Given the description of an element on the screen output the (x, y) to click on. 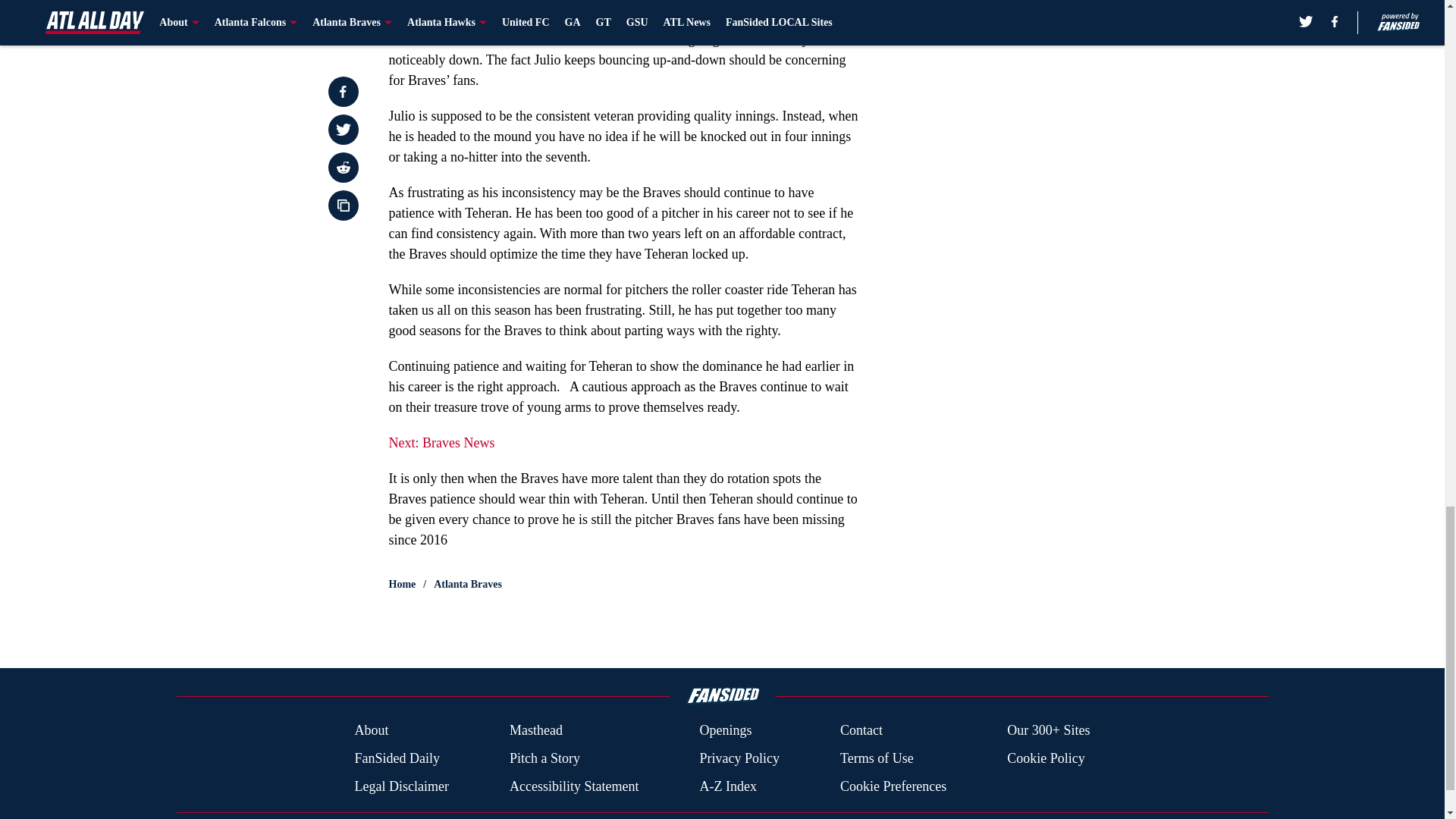
Terms of Use (877, 758)
Openings (724, 730)
About (370, 730)
Cookie Policy (1045, 758)
Home (401, 584)
Next: Braves News (441, 442)
Privacy Policy (738, 758)
Pitch a Story (544, 758)
Contact (861, 730)
Masthead (535, 730)
